Given the description of an element on the screen output the (x, y) to click on. 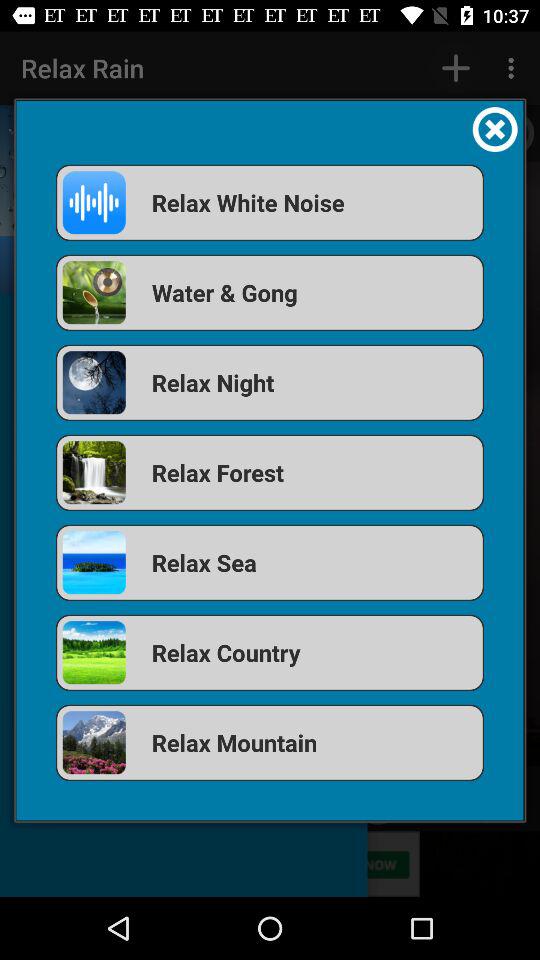
select icon below relax white noise icon (269, 292)
